Given the description of an element on the screen output the (x, y) to click on. 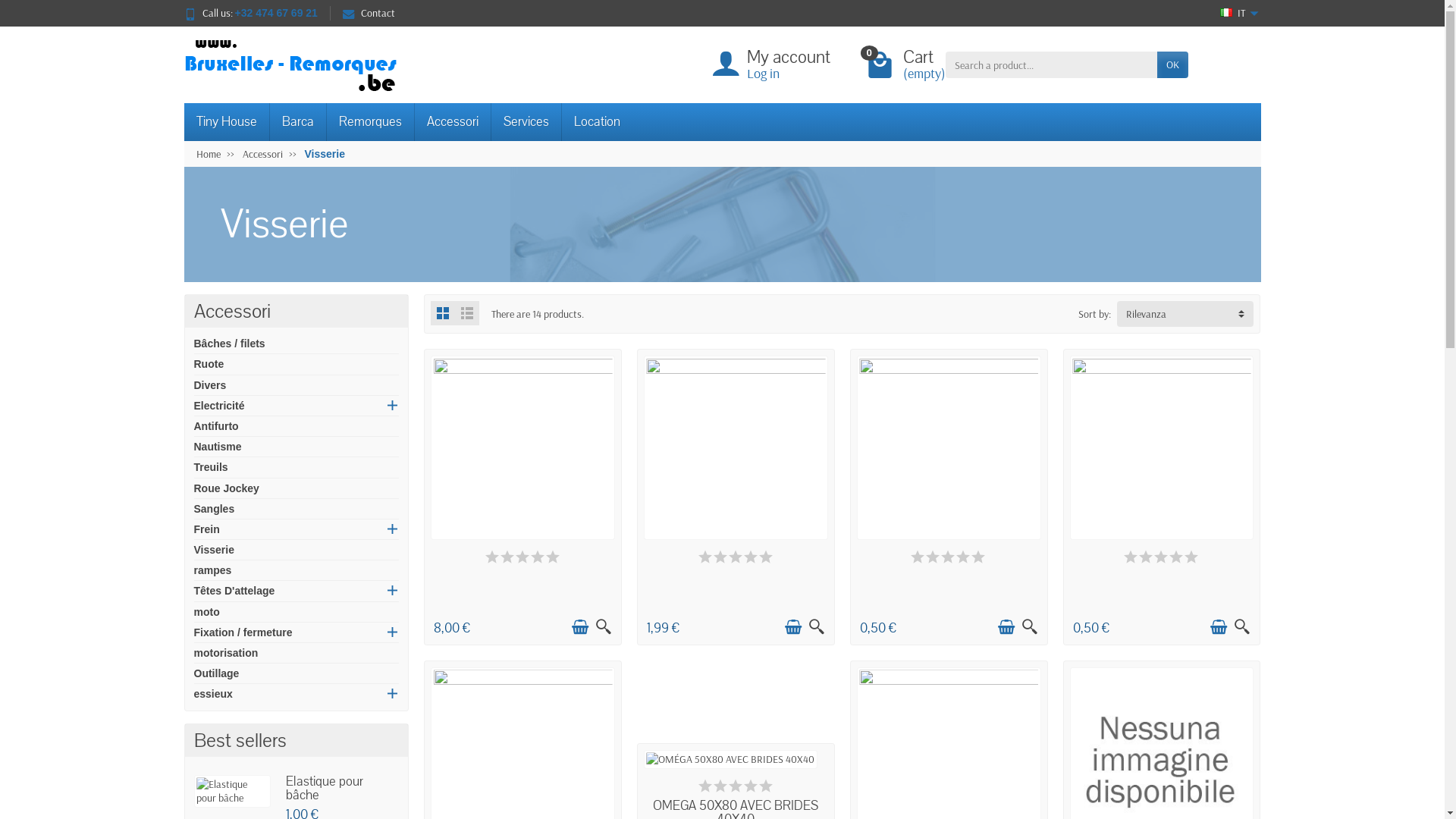
rampes Element type: text (213, 570)
Outillage Element type: text (216, 673)
Home Element type: text (207, 153)
Accessori Element type: text (452, 122)
Tiny House Element type: text (226, 122)
Nautisme Element type: text (217, 446)
motorisation Element type: text (226, 652)
Location Element type: text (596, 122)
Frein Element type: text (206, 529)
OK Element type: text (1172, 64)
Divers Element type: text (210, 385)
moto Element type: text (206, 611)
Antifurto Element type: text (216, 426)
Services Element type: text (526, 122)
Accessori Element type: text (262, 153)
Fixation / fermeture Element type: text (243, 632)
Accessori Element type: text (232, 311)
Treuils Element type: text (211, 467)
Ruote Element type: text (209, 363)
Remorques Element type: text (370, 122)
Visserie Element type: text (214, 549)
essieux Element type: text (213, 693)
Sangles Element type: text (214, 508)
Roue Jockey Element type: text (226, 488)
Barca Element type: text (297, 122)
